Given the description of an element on the screen output the (x, y) to click on. 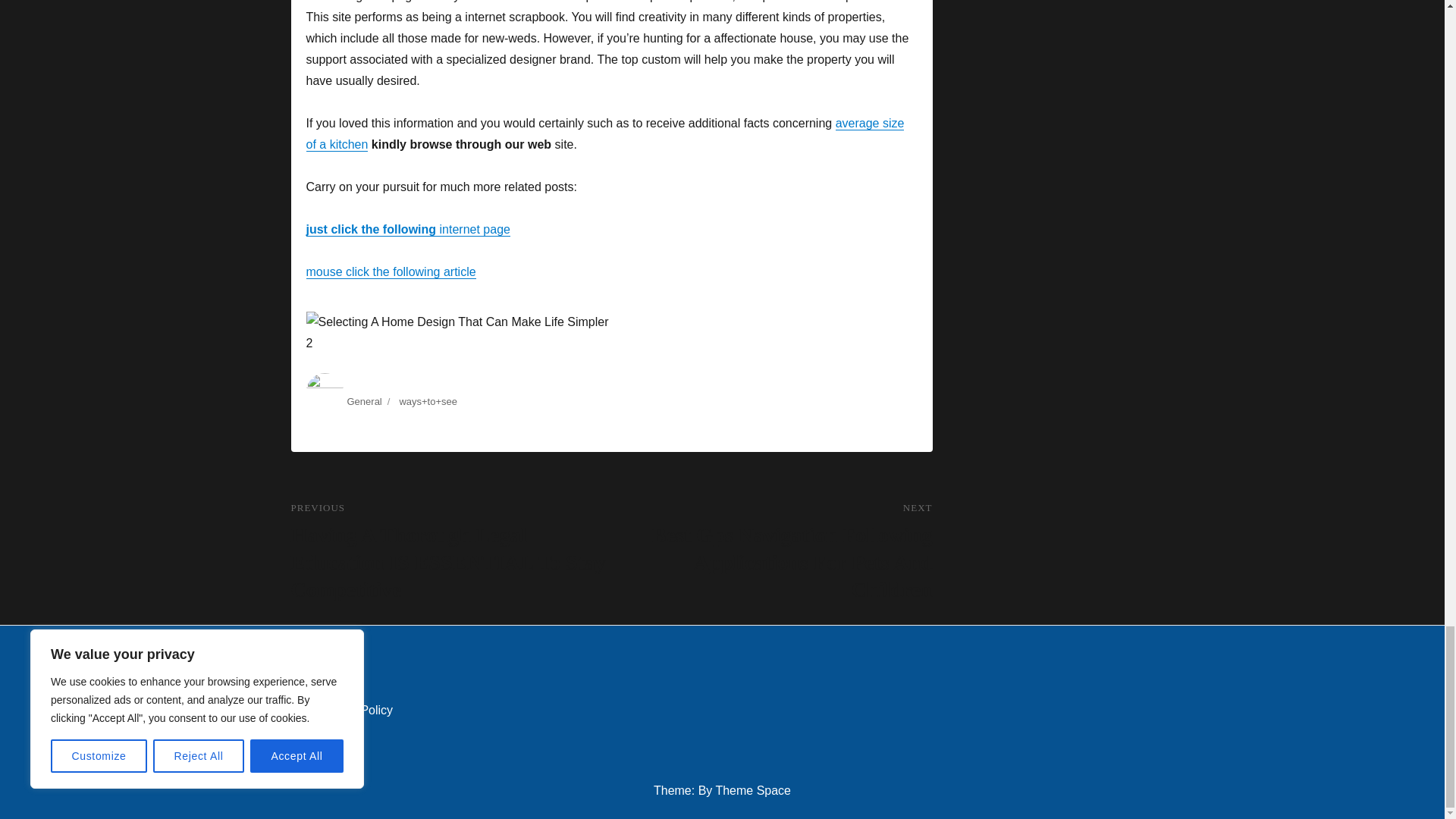
General (364, 401)
average size of a kitchen (604, 133)
mouse click the following article (390, 271)
just click the following internet page (408, 228)
